Given the description of an element on the screen output the (x, y) to click on. 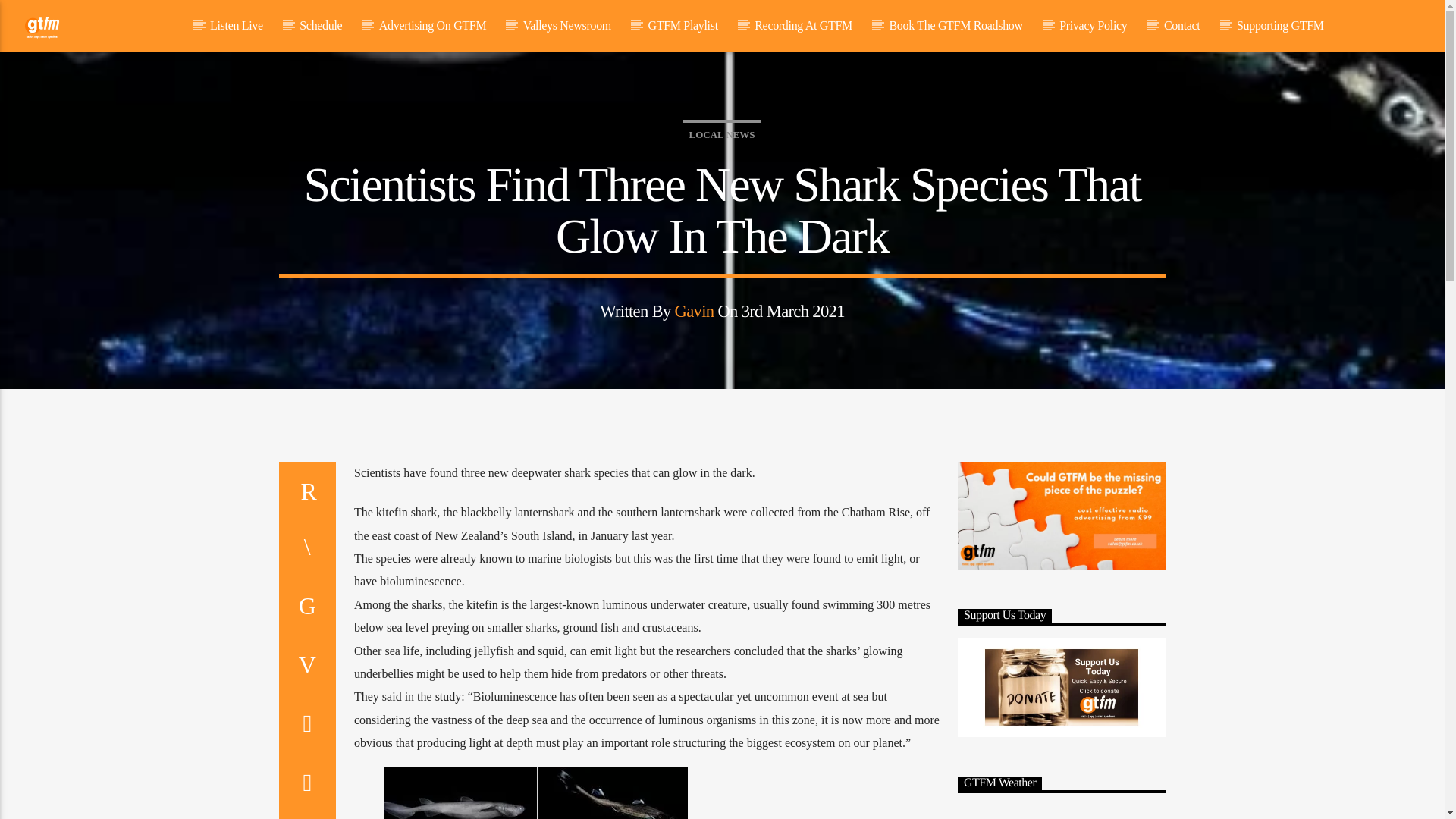
Posts by Gavin (694, 311)
Book The GTFM Roadshow (955, 25)
Contact (1182, 25)
Valleys Newsroom (566, 25)
Privacy Policy (1093, 25)
Listen Live (237, 25)
GTFM Playlist (682, 25)
Supporting GTFM (1280, 25)
Schedule (320, 25)
Advertising On GTFM (431, 25)
Recording At GTFM (803, 25)
